Given the description of an element on the screen output the (x, y) to click on. 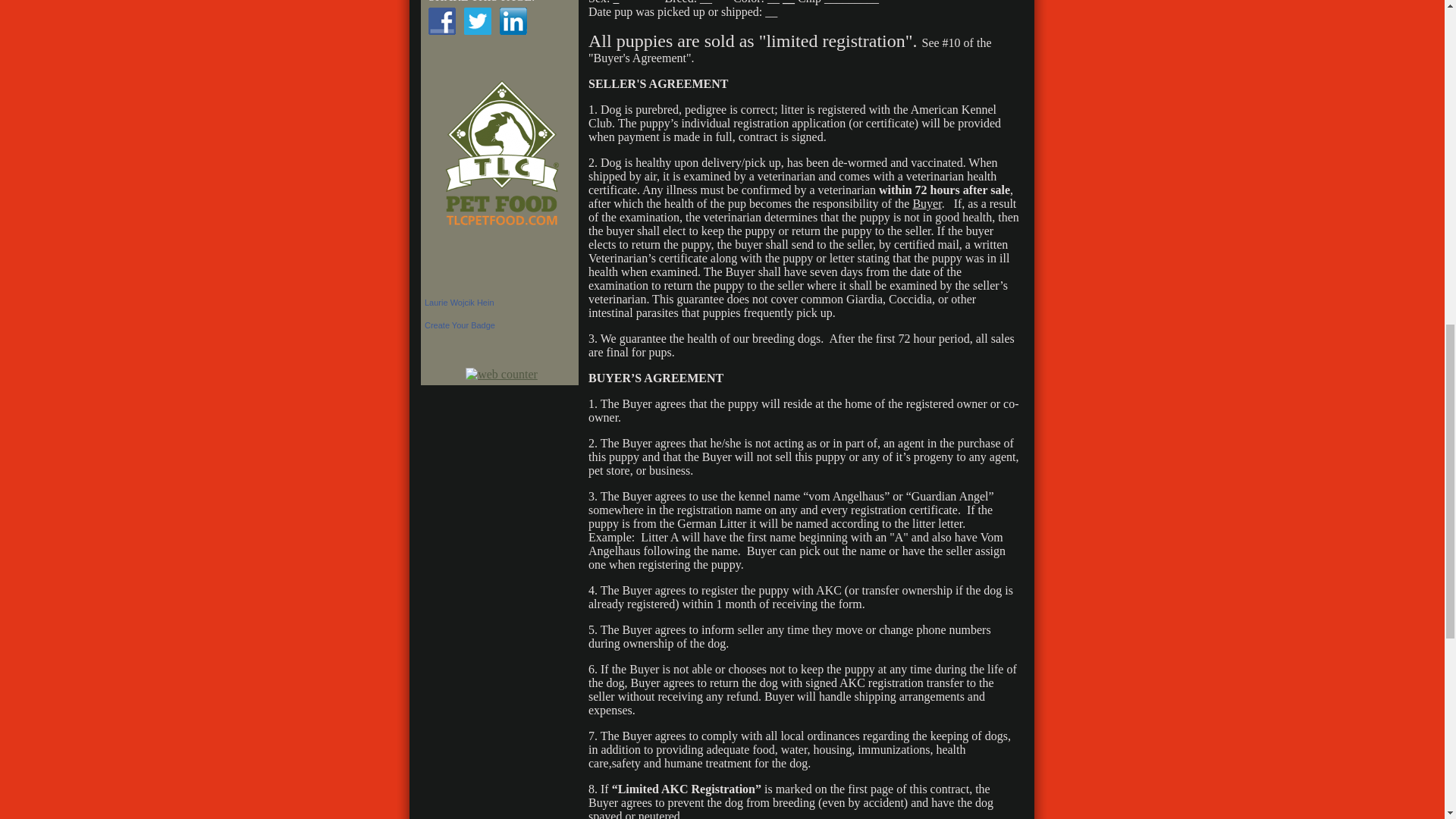
Laurie Wojcik Hein (460, 302)
Make your own badge! (460, 325)
Create Your Badge (460, 325)
Laurie Wojcik Hein (460, 302)
